Given the description of an element on the screen output the (x, y) to click on. 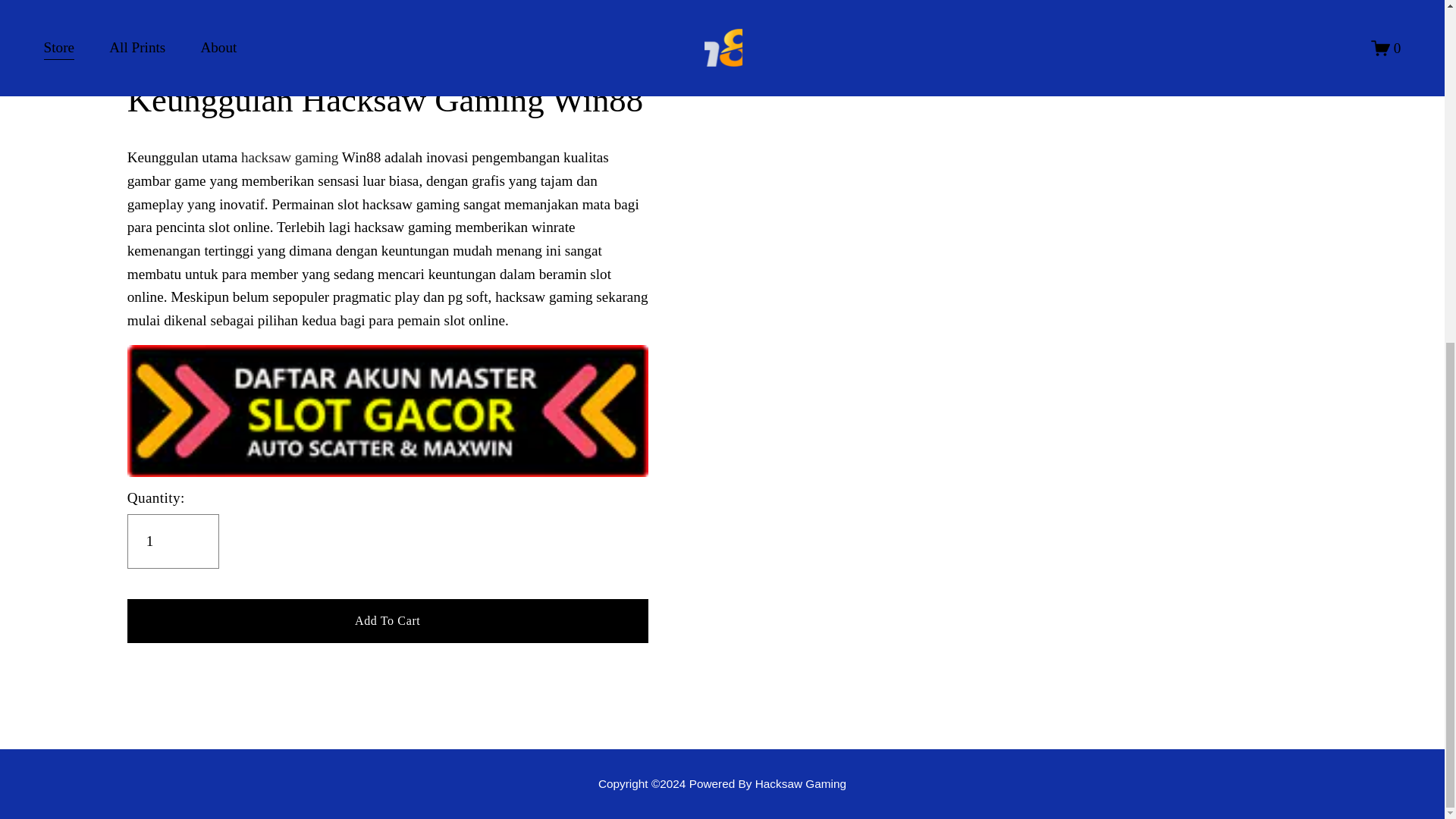
hacksaw gaming (289, 157)
1 (173, 541)
Add To Cart (387, 619)
Sabung Ayam Online (721, 783)
